Given the description of an element on the screen output the (x, y) to click on. 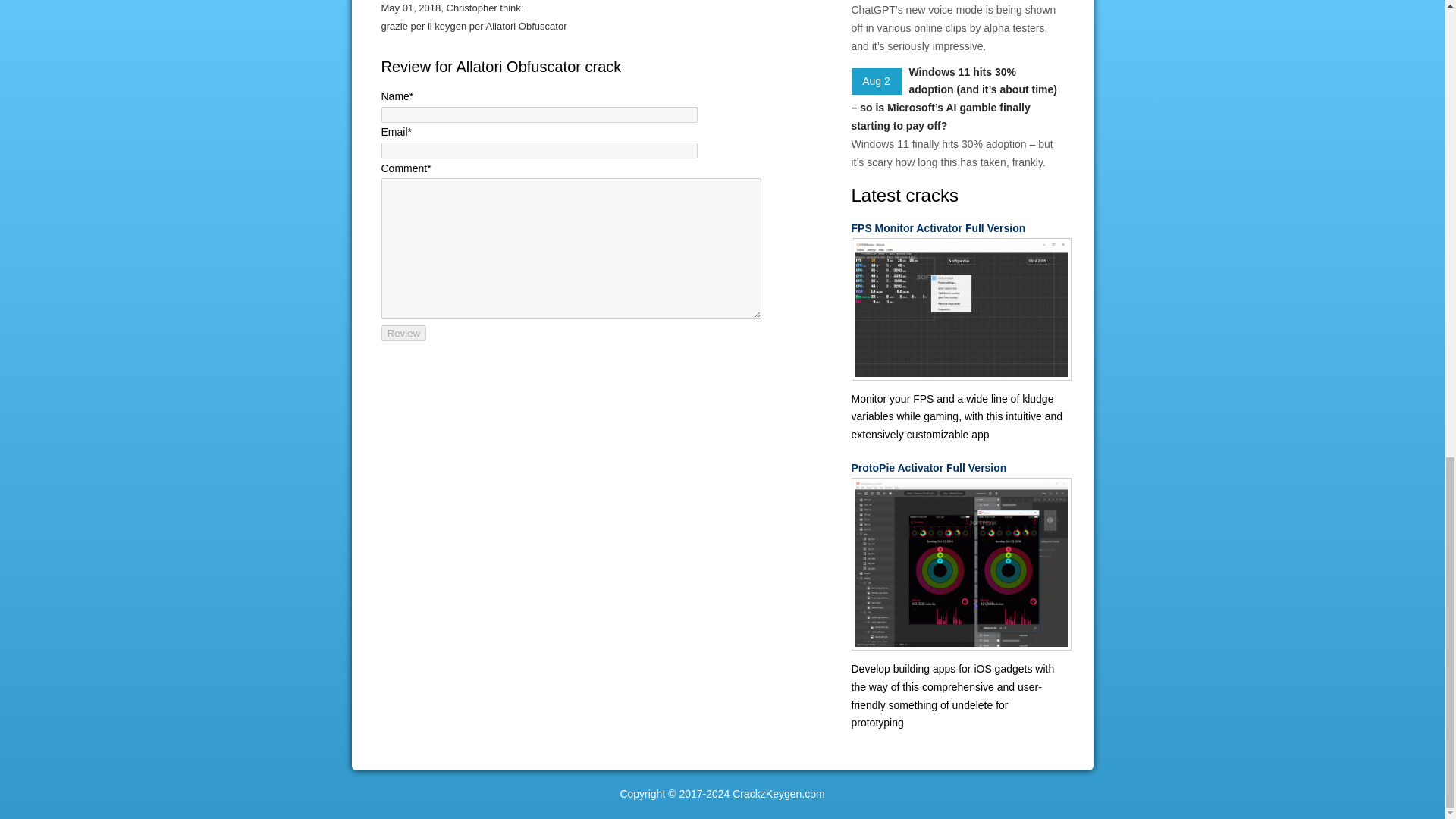
Review (403, 333)
CrackzKeygen.com (778, 793)
FPS Monitor Activator Full Version (956, 229)
ProtoPie Activator Full Version (956, 468)
Review (403, 333)
